Given the description of an element on the screen output the (x, y) to click on. 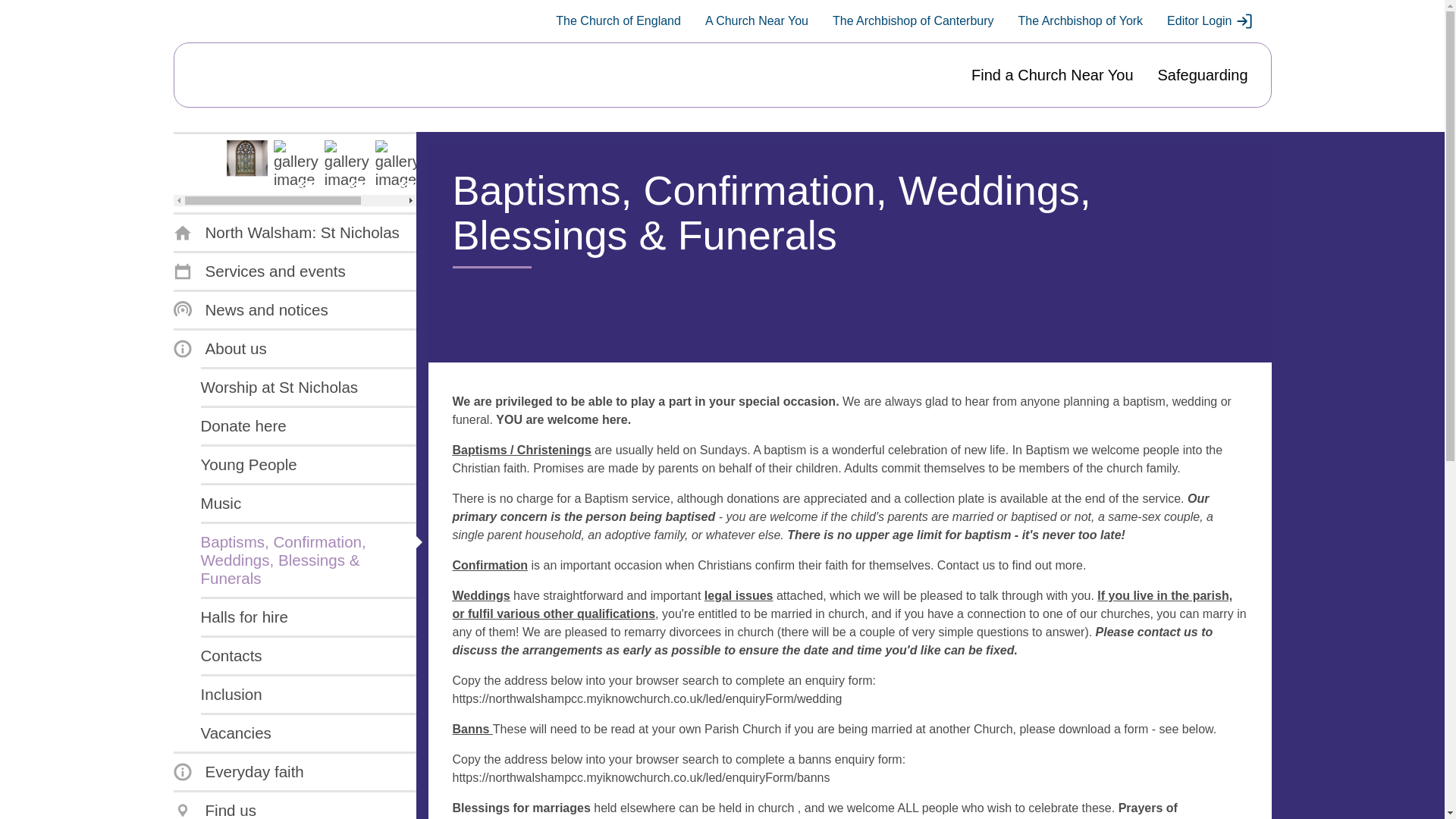
Safeguarding (1202, 75)
A Church Near You (756, 21)
Find a Church Near You (1051, 75)
The Archbishop of Canterbury (913, 21)
The Archbishop of York (1079, 21)
Editor Login (1209, 21)
The Church of England (618, 21)
ACNY home (245, 75)
